Given the description of an element on the screen output the (x, y) to click on. 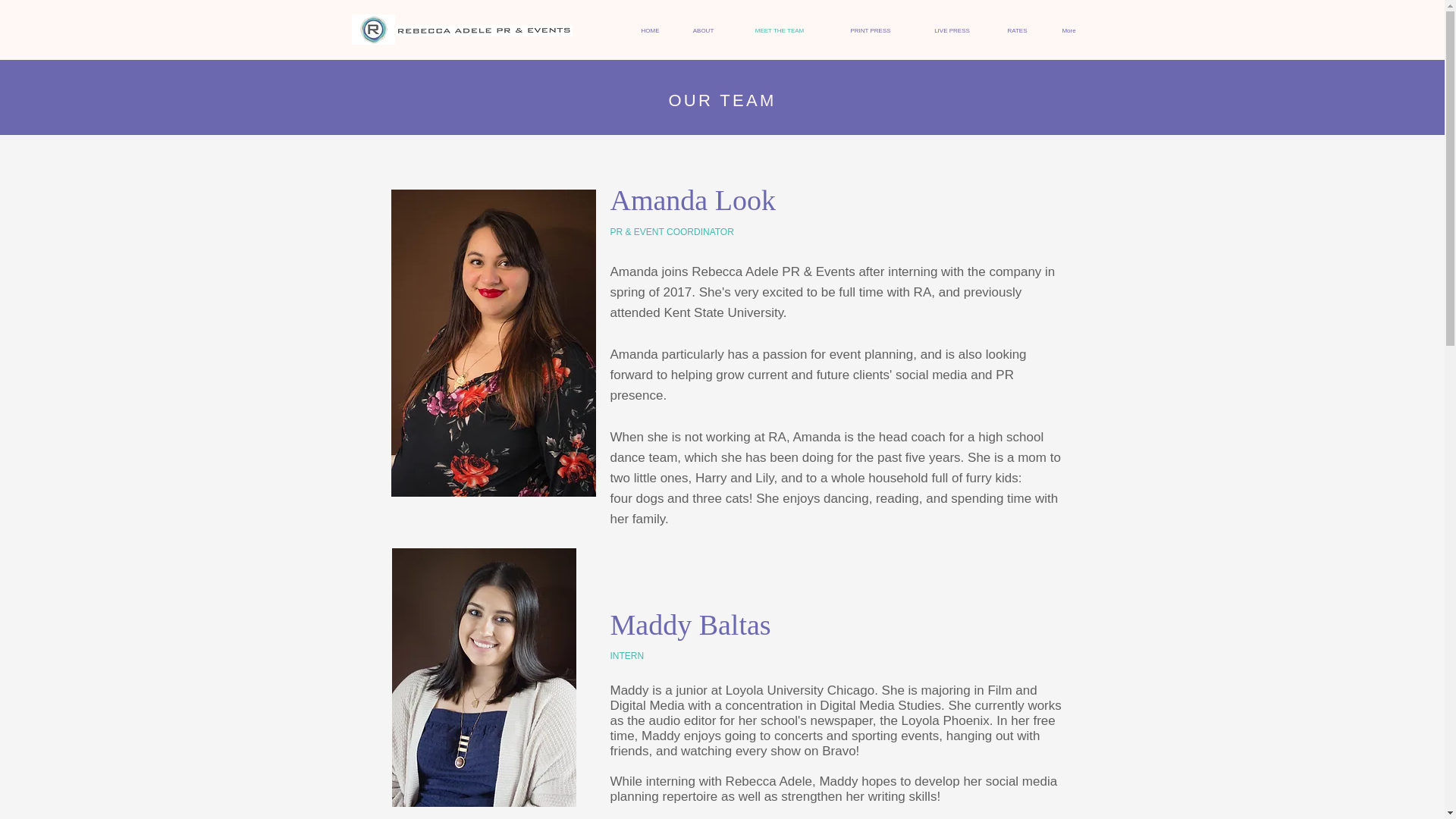
MEET THE TEAM (778, 30)
HOME (649, 30)
LIVE PRESS (951, 30)
RATES (1016, 30)
ABOUT (702, 30)
PRINT PRESS (871, 30)
